Given the description of an element on the screen output the (x, y) to click on. 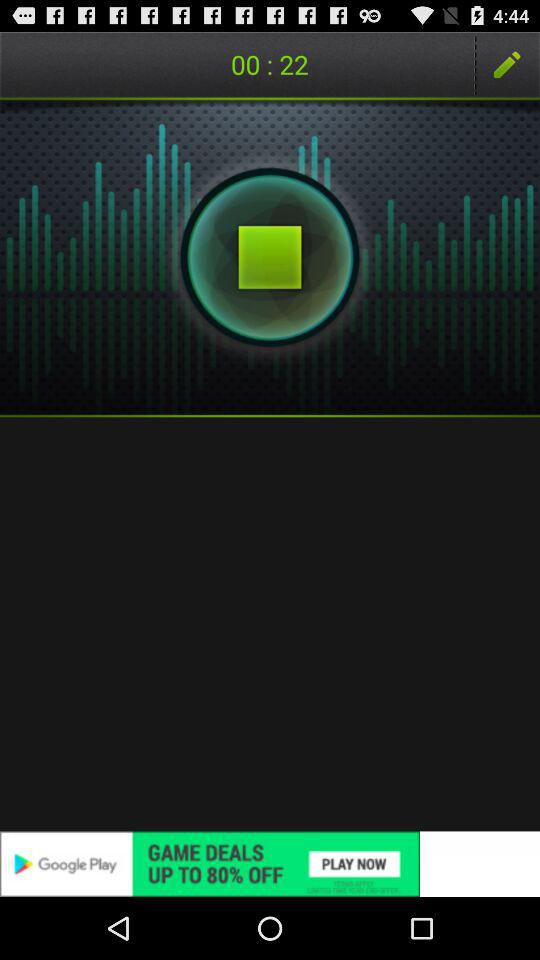
press app next to the 01 : 15 icon (507, 64)
